Given the description of an element on the screen output the (x, y) to click on. 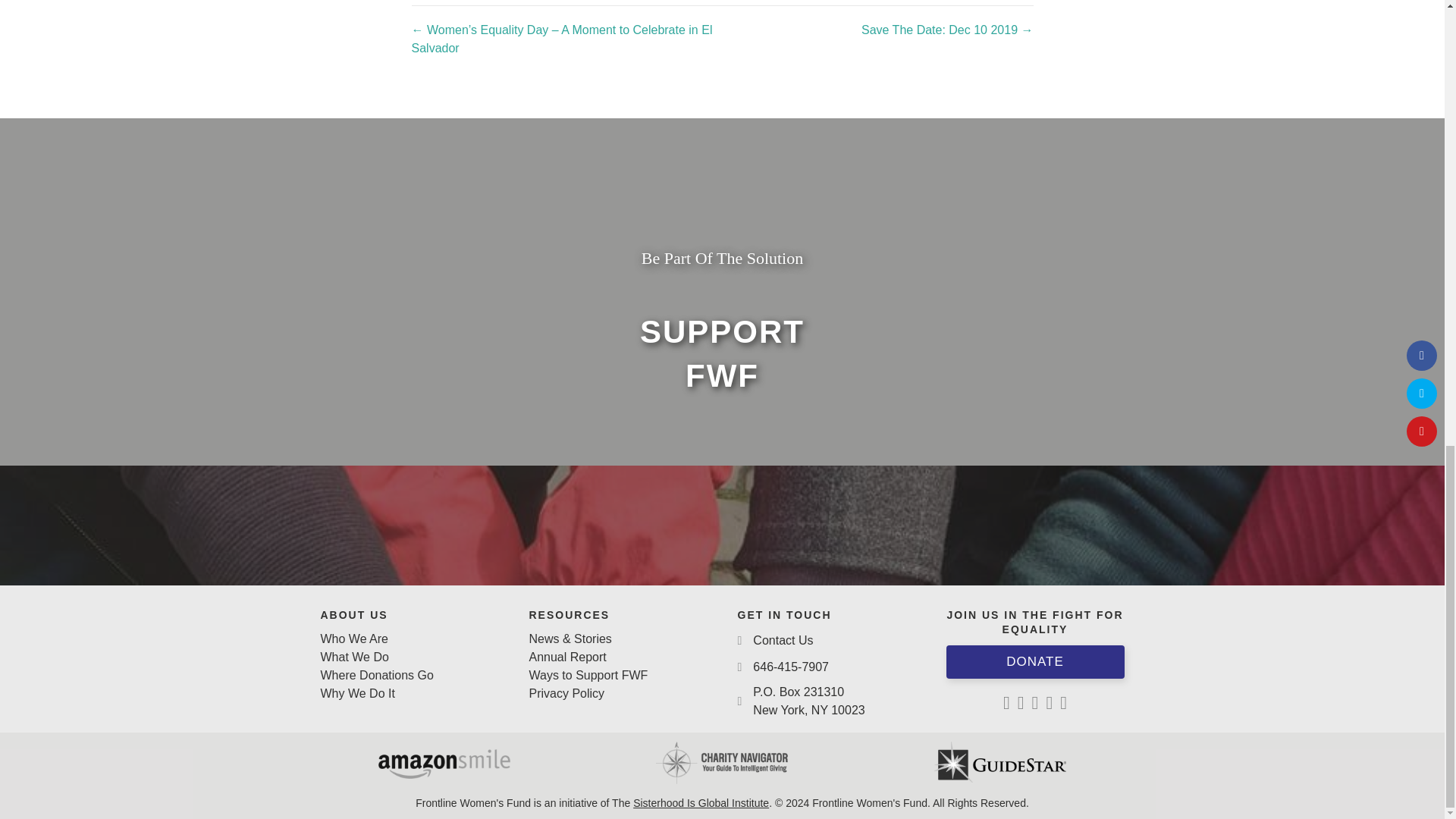
Amazon-Smile-Logo-Grayscale (444, 763)
GuideStar-Logo-Grayscale (999, 762)
Charity-Navigator-Logo-Grayscale (721, 762)
